Given the description of an element on the screen output the (x, y) to click on. 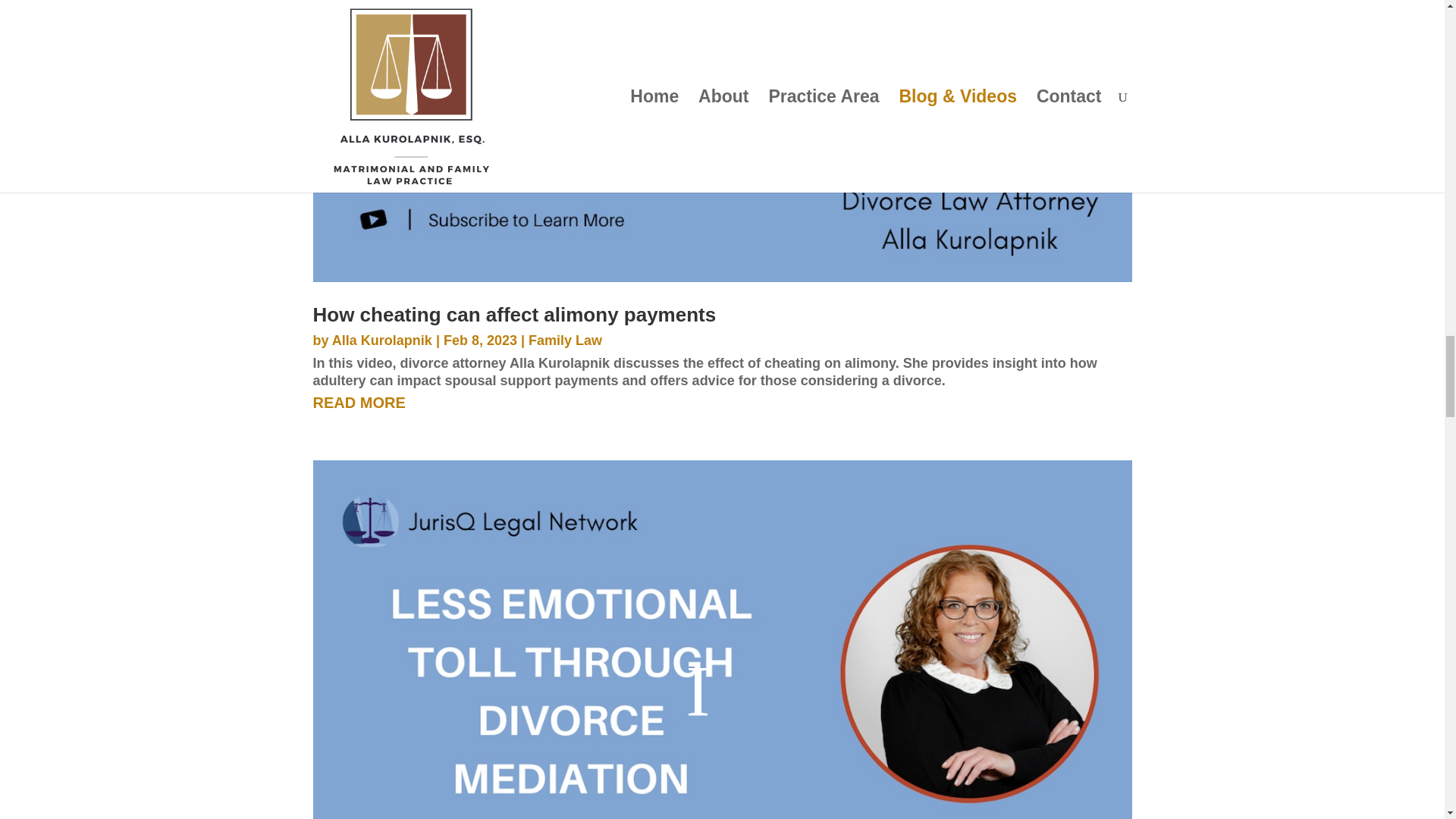
Family Law (565, 340)
Posts by Alla Kurolapnik (381, 340)
READ MORE (722, 402)
How cheating can affect alimony payments (514, 314)
Alla Kurolapnik (381, 340)
